Given the description of an element on the screen output the (x, y) to click on. 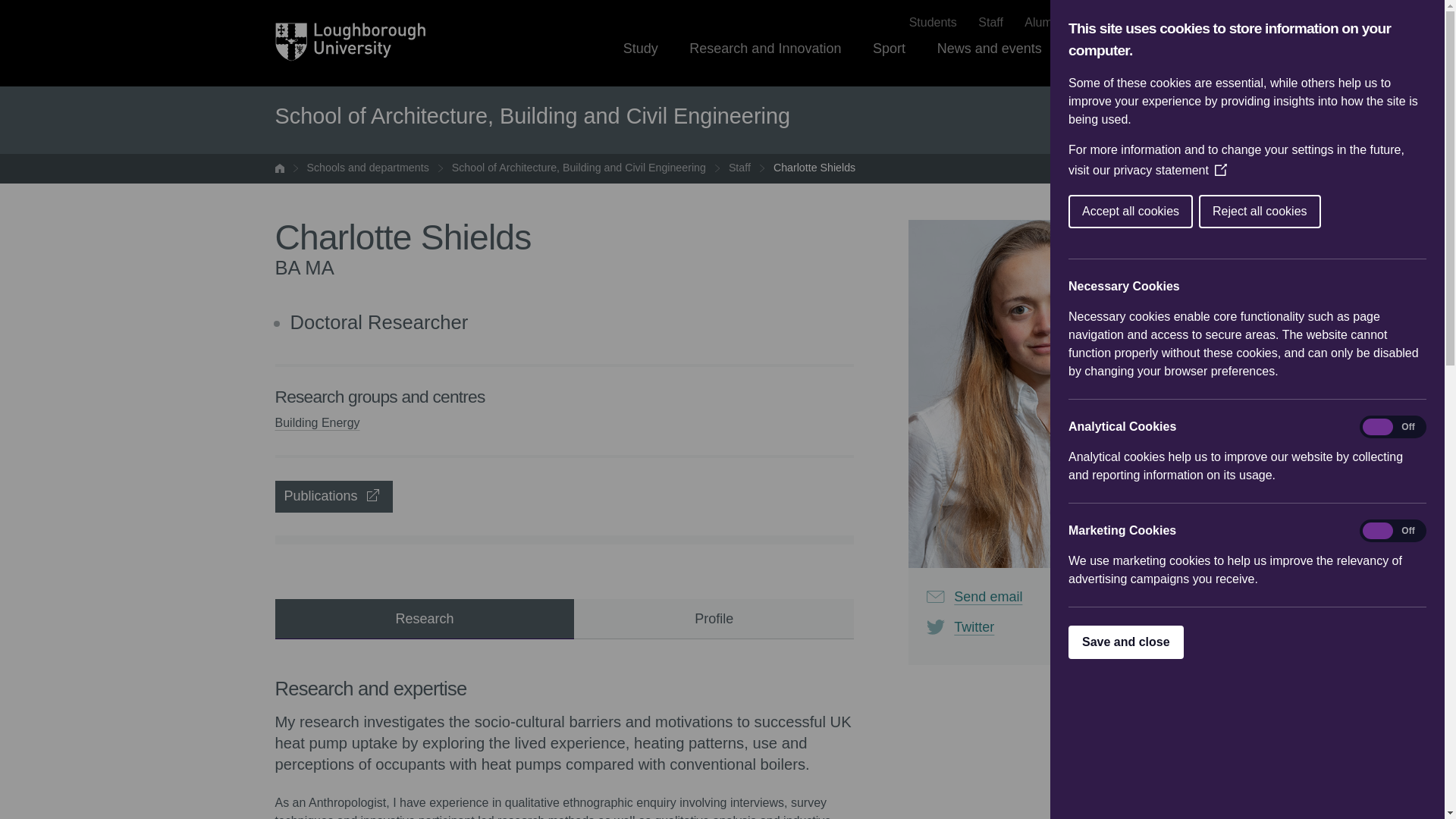
School of Architecture, Building and Civil Engineering (532, 116)
Jobs (1096, 22)
Staff (740, 168)
Loughborough University (350, 41)
Research and Innovation (764, 61)
Reject all cookies (1323, 211)
Accept all cookies (1225, 211)
School of Architecture, Building and Civil Engineering (578, 168)
Twitter (1038, 627)
Charlotte Shields (814, 168)
